Given the description of an element on the screen output the (x, y) to click on. 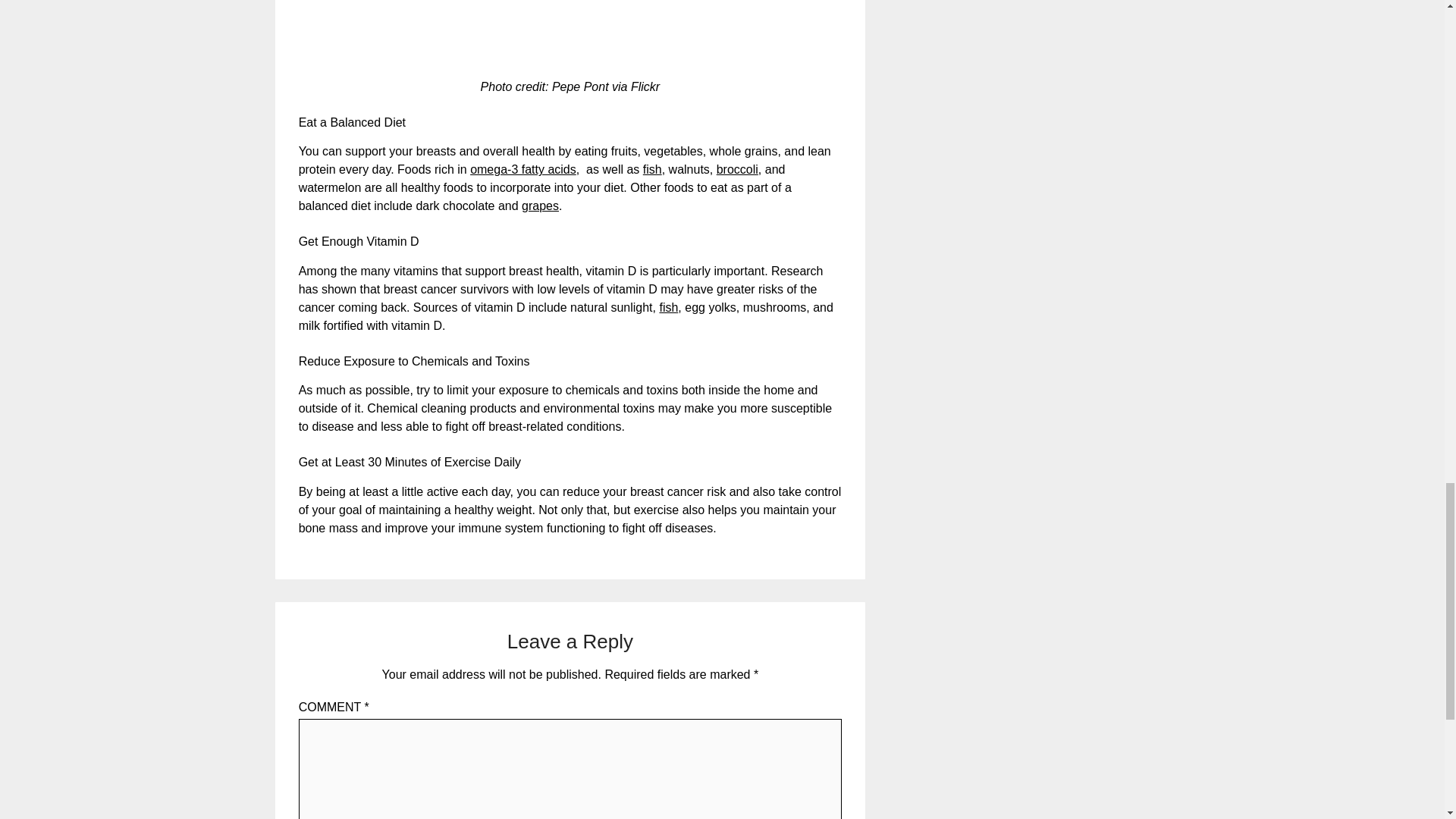
fish (668, 307)
omega-3 fatty acids (523, 169)
fish (652, 169)
broccoli (737, 169)
grapes (540, 205)
